Given the description of an element on the screen output the (x, y) to click on. 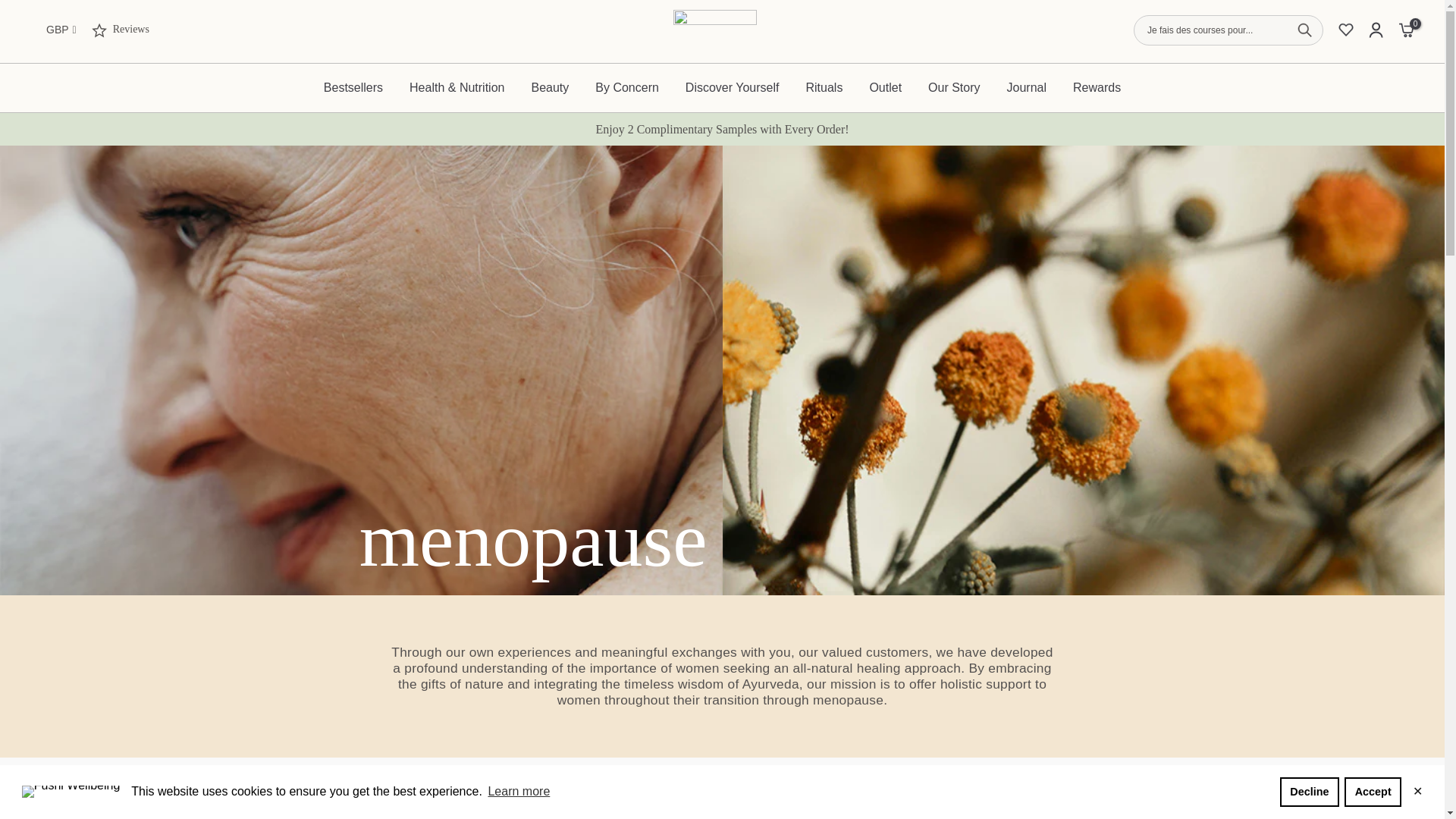
Accept (1371, 791)
Decline (1309, 791)
Learn more (517, 791)
